Given the description of an element on the screen output the (x, y) to click on. 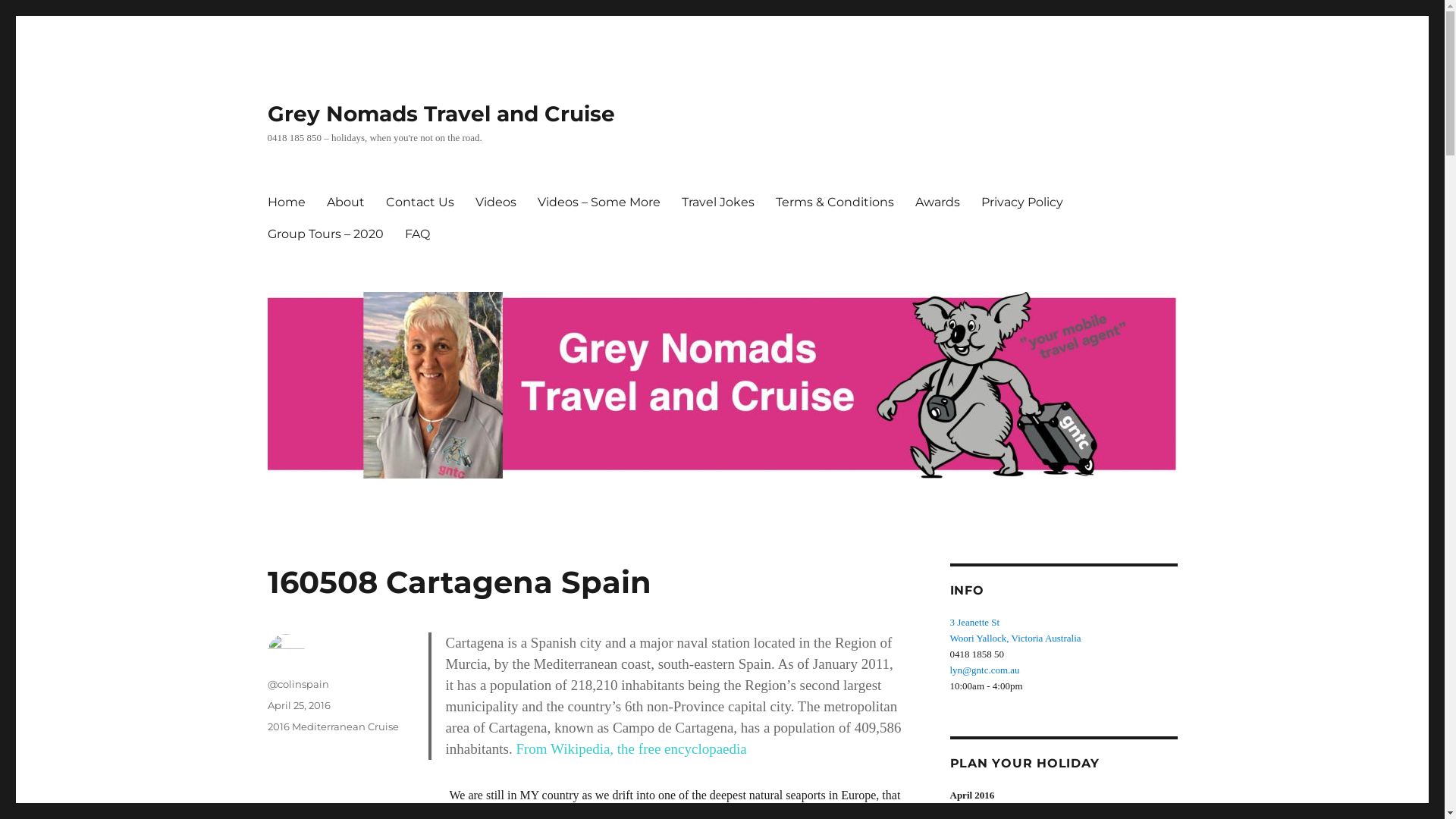
Privacy Policy Element type: text (1021, 201)
Grey Nomads Travel and Cruise Element type: text (440, 113)
Terms & Conditions Element type: text (833, 201)
lyn@gntc.com.au Element type: text (984, 669)
About Element type: text (344, 201)
FAQ Element type: text (417, 233)
April 25, 2016 Element type: text (297, 705)
Awards Element type: text (936, 201)
2016 Mediterranean Cruise Element type: text (332, 726)
Home Element type: text (285, 201)
Travel Jokes Element type: text (717, 201)
3 Jeanette St
Woori Yallock, Victoria Australia Element type: text (1014, 629)
Videos Element type: text (495, 201)
@colinspain Element type: text (297, 683)
Contact Us Element type: text (419, 201)
